Given the description of an element on the screen output the (x, y) to click on. 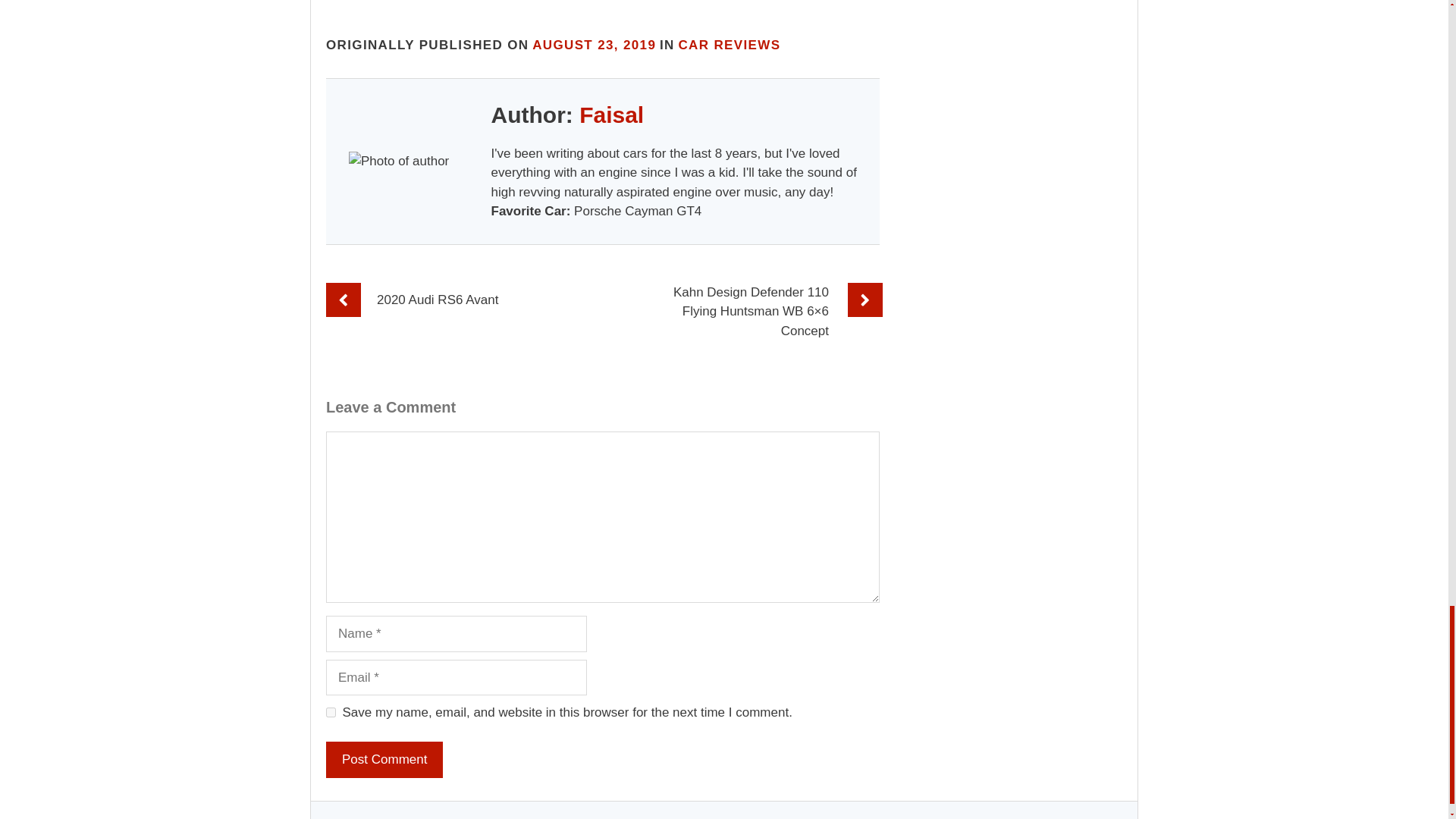
Post Comment (384, 760)
yes (331, 712)
CAR REVIEWS (729, 44)
Post Comment (384, 760)
2020 Audi RS6 Avant (437, 299)
Faisal (611, 114)
